Given the description of an element on the screen output the (x, y) to click on. 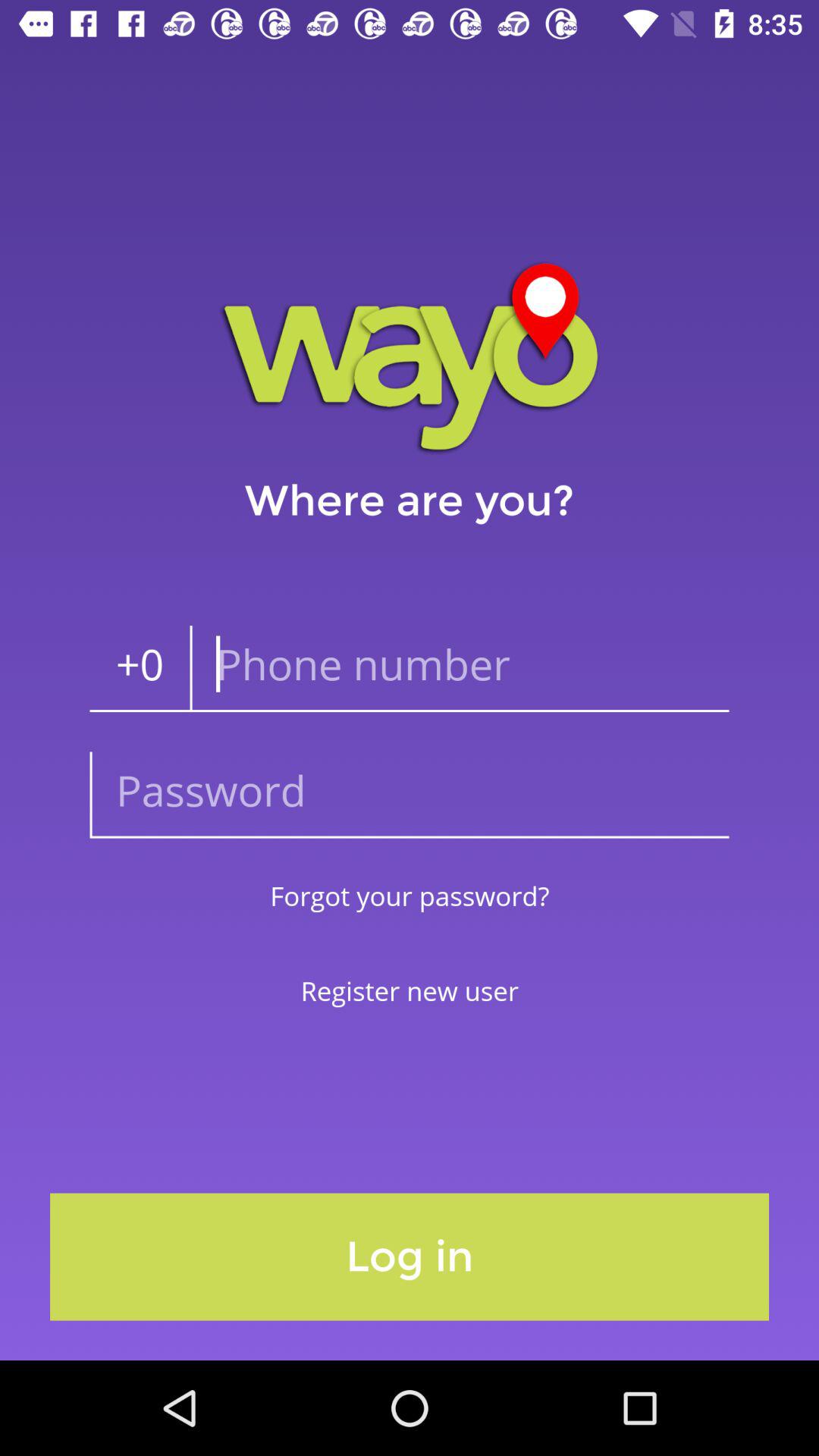
turn on item below the forgot your password? item (409, 990)
